Given the description of an element on the screen output the (x, y) to click on. 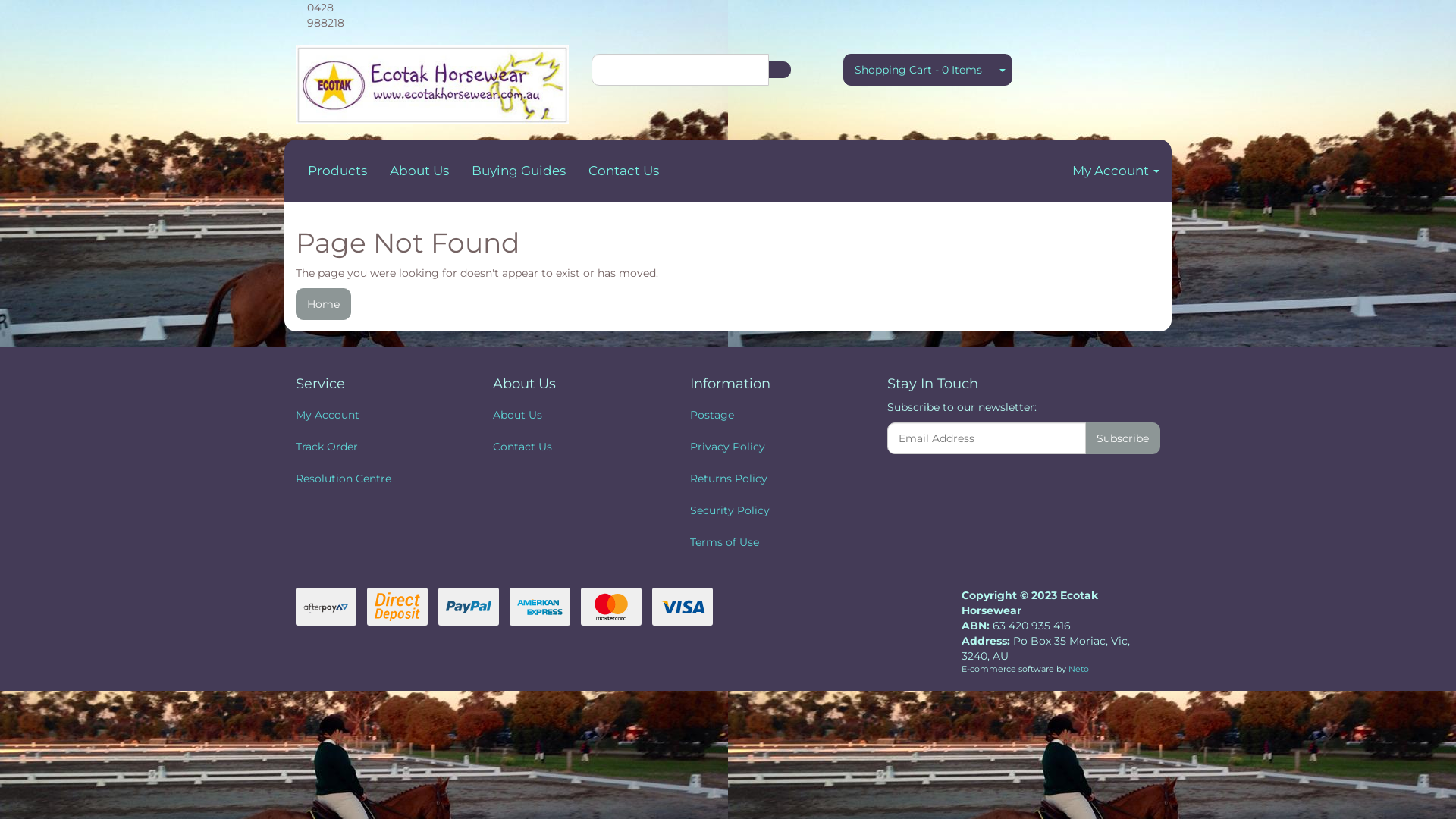
Subscribe Element type: text (1122, 438)
Postage Element type: text (771, 414)
Security Policy Element type: text (771, 510)
Search Element type: text (778, 69)
Track Order Element type: text (377, 446)
Buying Guides Element type: text (518, 170)
Contact Us Element type: text (623, 170)
Home Element type: text (323, 304)
Ecotak Horsewear Element type: hover (431, 79)
Resolution Centre Element type: text (377, 478)
About Us Element type: text (419, 170)
Returns Policy Element type: text (771, 478)
About Us Element type: text (574, 414)
My Account Element type: text (1115, 170)
Privacy Policy Element type: text (771, 446)
Neto Element type: text (1077, 668)
Shopping Cart - 0 Items Element type: text (918, 69)
My Account Element type: text (377, 414)
Contact Us Element type: text (574, 446)
Terms of Use Element type: text (771, 542)
Products Element type: text (337, 170)
